Given the description of an element on the screen output the (x, y) to click on. 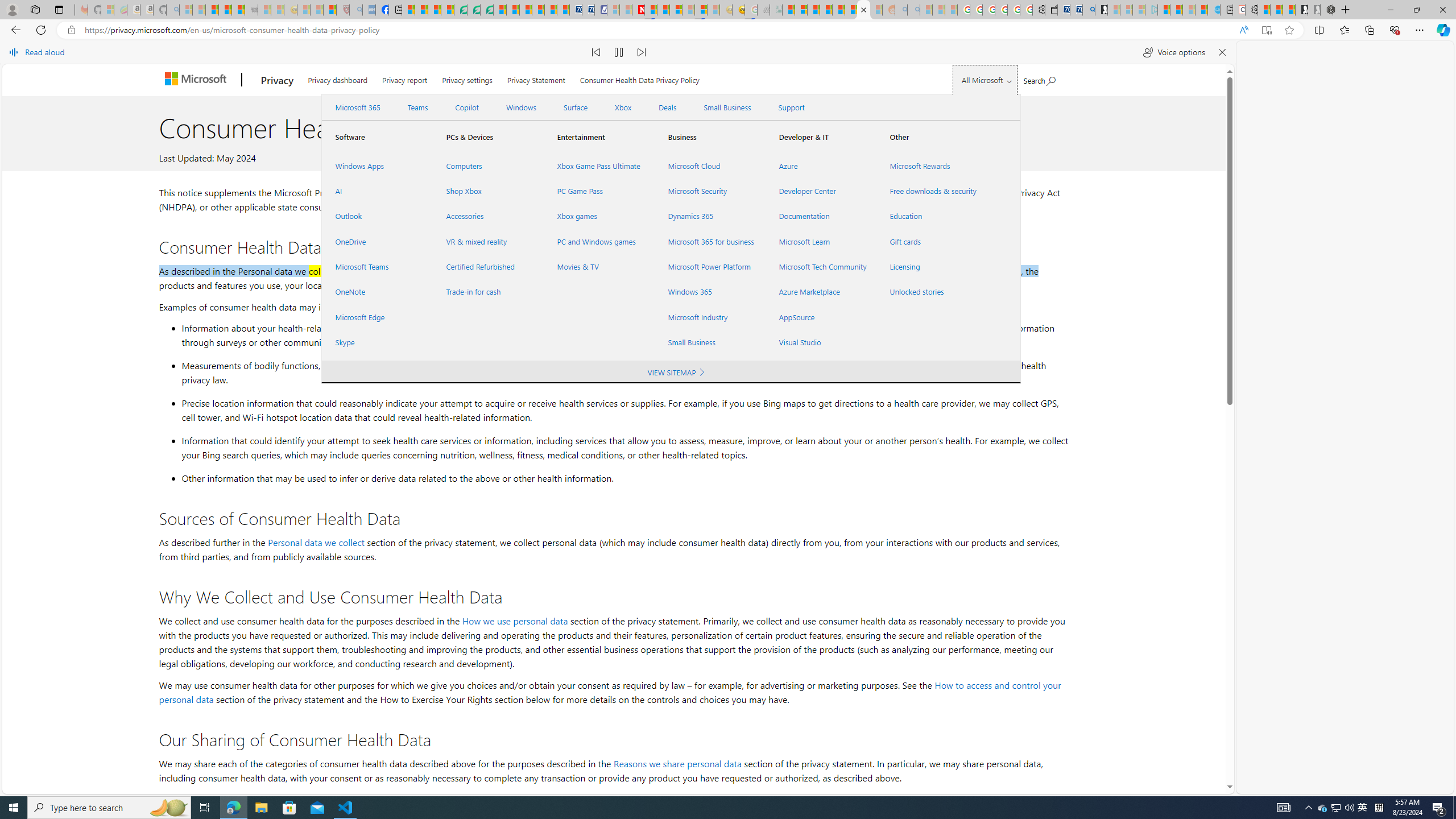
Microsoft (197, 79)
Latest Politics News & Archive | Newsweek.com (638, 9)
Microsoft 365 for business (709, 240)
Skype (376, 342)
Small Business (709, 342)
Consumer Health Data Privacy Policy (639, 77)
Shop Xbox (487, 190)
Microsoft Learn (820, 240)
Movies & TV (599, 266)
Microsoft Start Gaming (1101, 9)
OneDrive (376, 240)
Utah sues federal government - Search - Sleeping (913, 9)
